Given the description of an element on the screen output the (x, y) to click on. 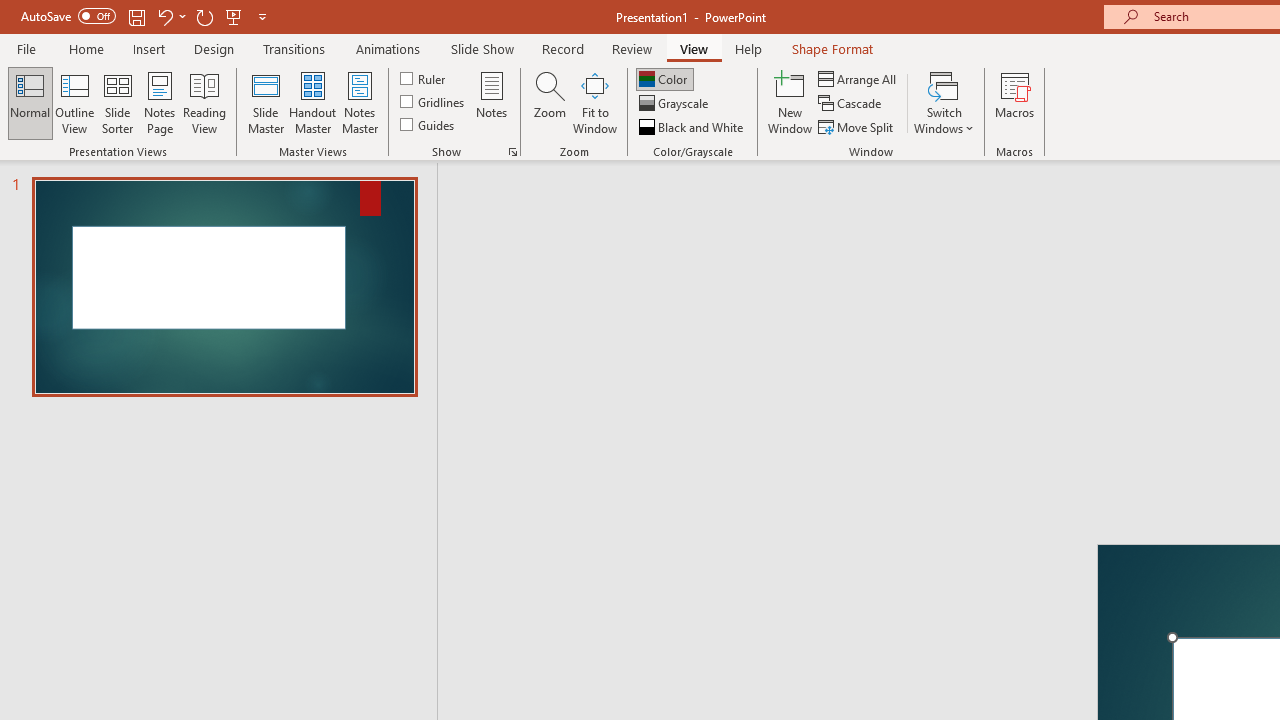
Guides (428, 124)
Notes (492, 102)
Move Split (857, 126)
Grayscale (675, 103)
Gridlines (433, 101)
